Given the description of an element on the screen output the (x, y) to click on. 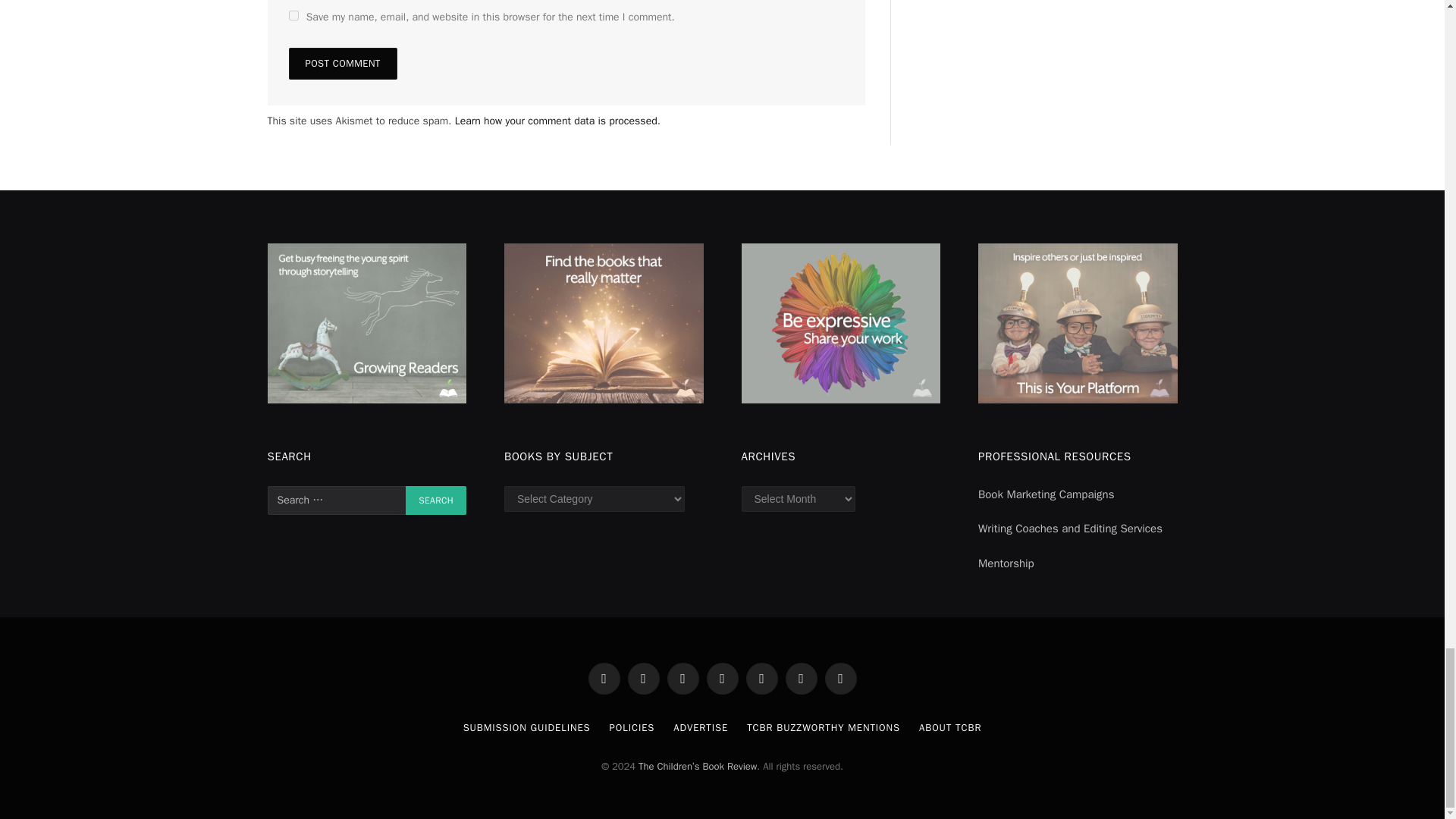
Search (435, 500)
Post Comment (342, 63)
Search (435, 500)
yes (293, 15)
